Given the description of an element on the screen output the (x, y) to click on. 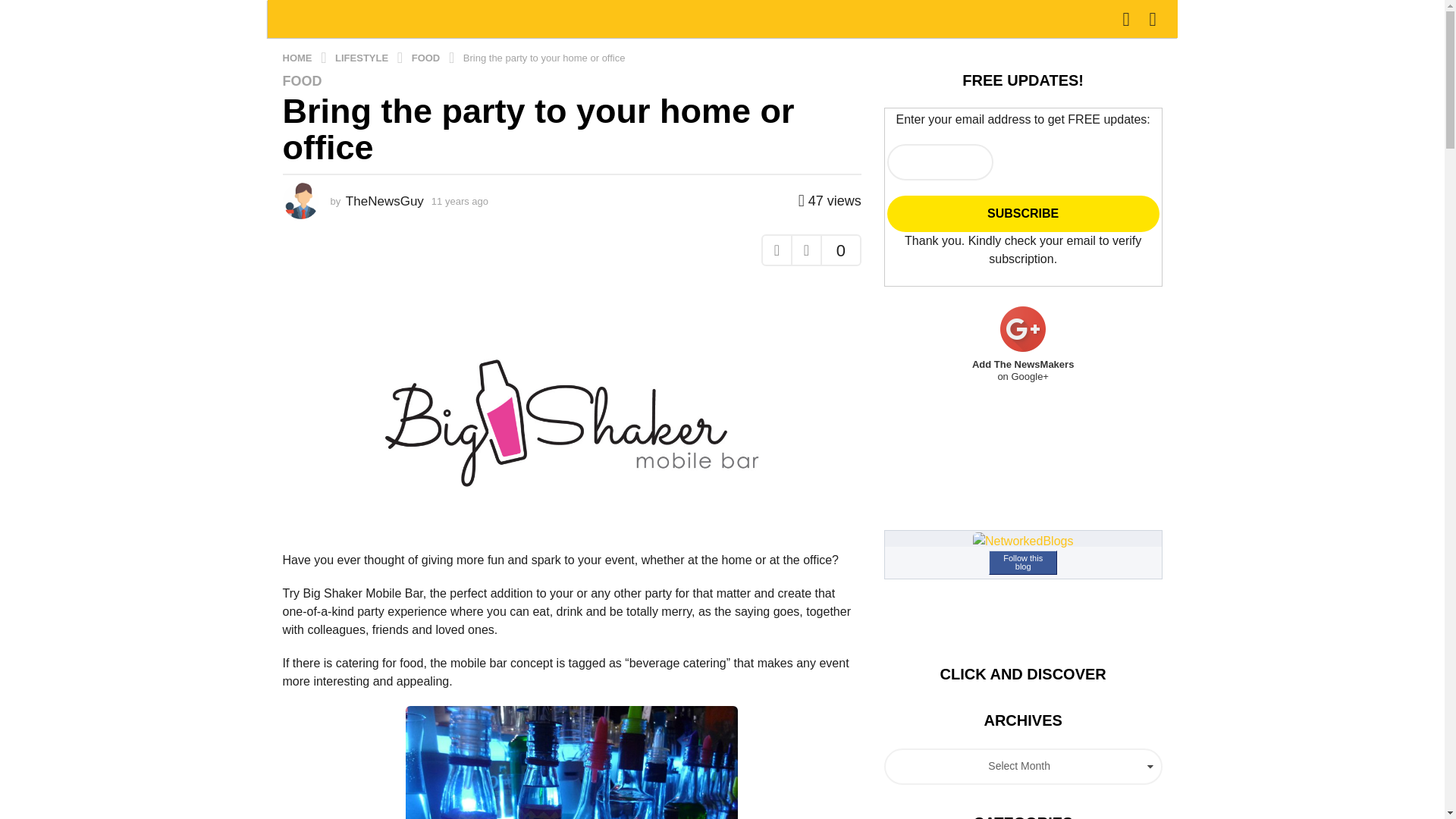
HOME (298, 57)
FOOD (427, 57)
FOOD (301, 80)
TheNewsGuy (384, 201)
Subscribe (1022, 213)
Bring the party to your home or office (544, 57)
LIFESTYLE (362, 57)
